Given the description of an element on the screen output the (x, y) to click on. 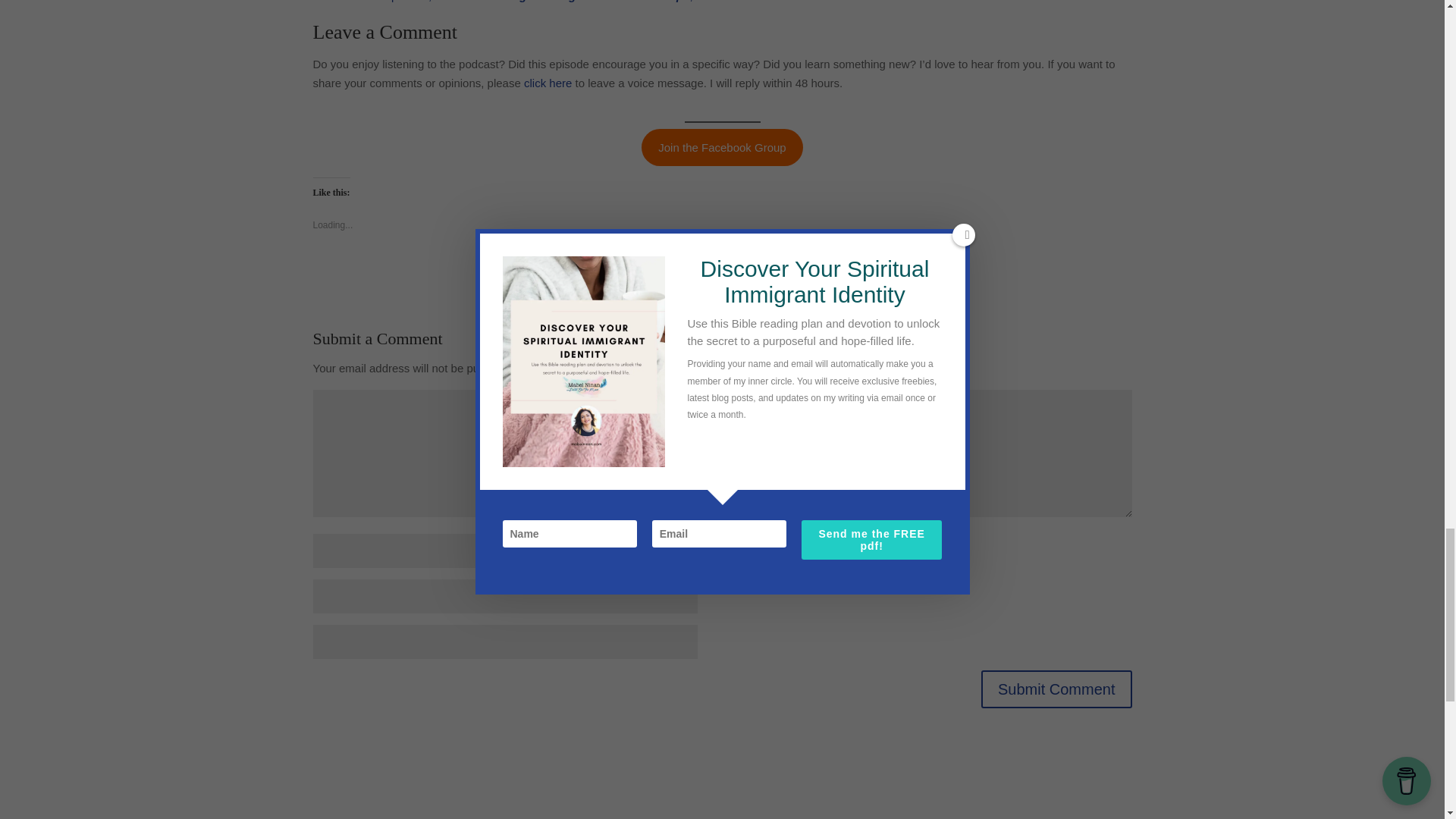
Submit Comment (1056, 689)
